Given the description of an element on the screen output the (x, y) to click on. 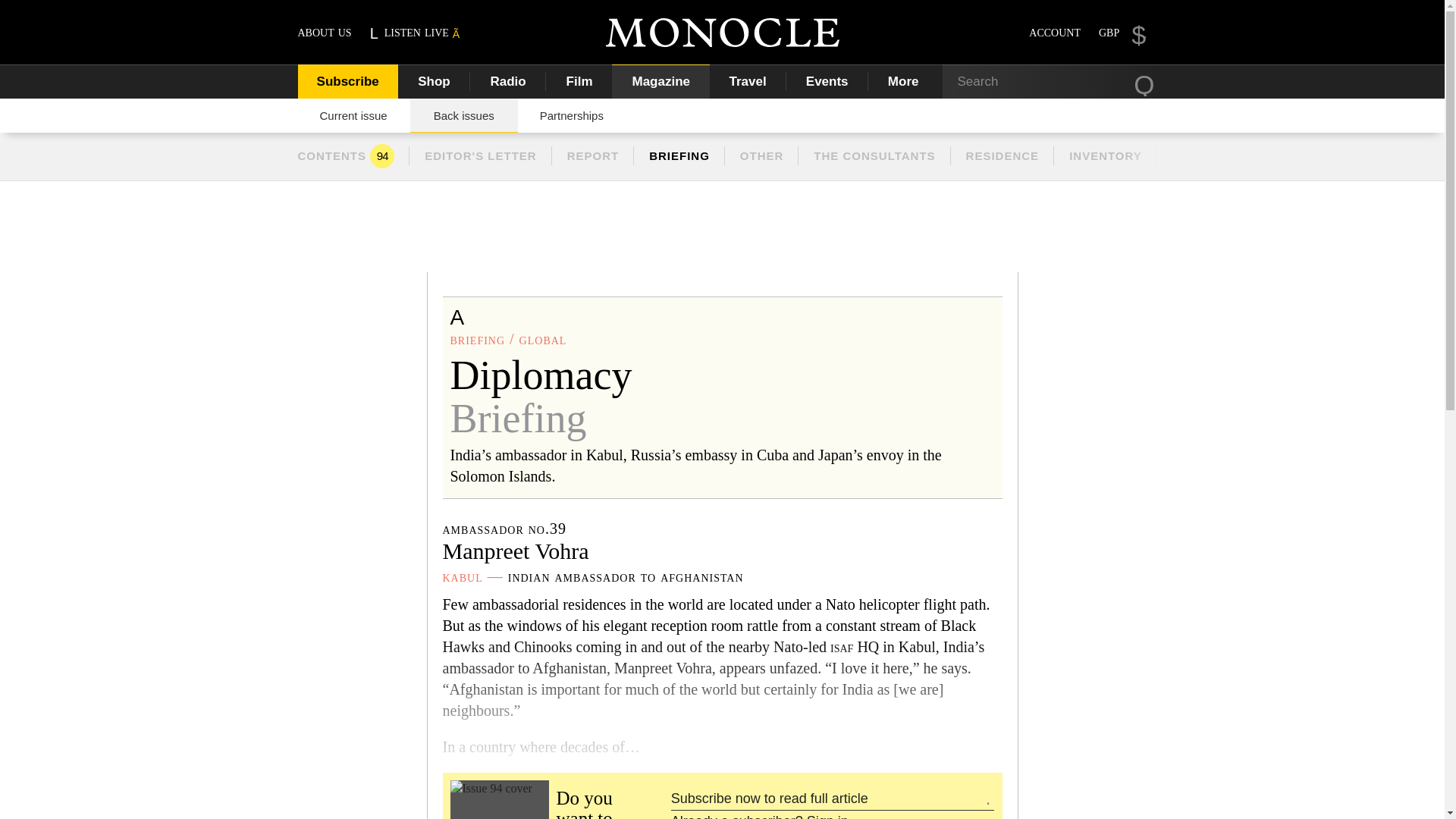
Shop (433, 81)
Radio (507, 81)
L listen live (415, 31)
Magazine (660, 81)
More (905, 81)
Shop (433, 81)
Subscribe (347, 81)
Events (827, 81)
Travel (747, 81)
Subscribe (347, 81)
Film (578, 81)
